Given the description of an element on the screen output the (x, y) to click on. 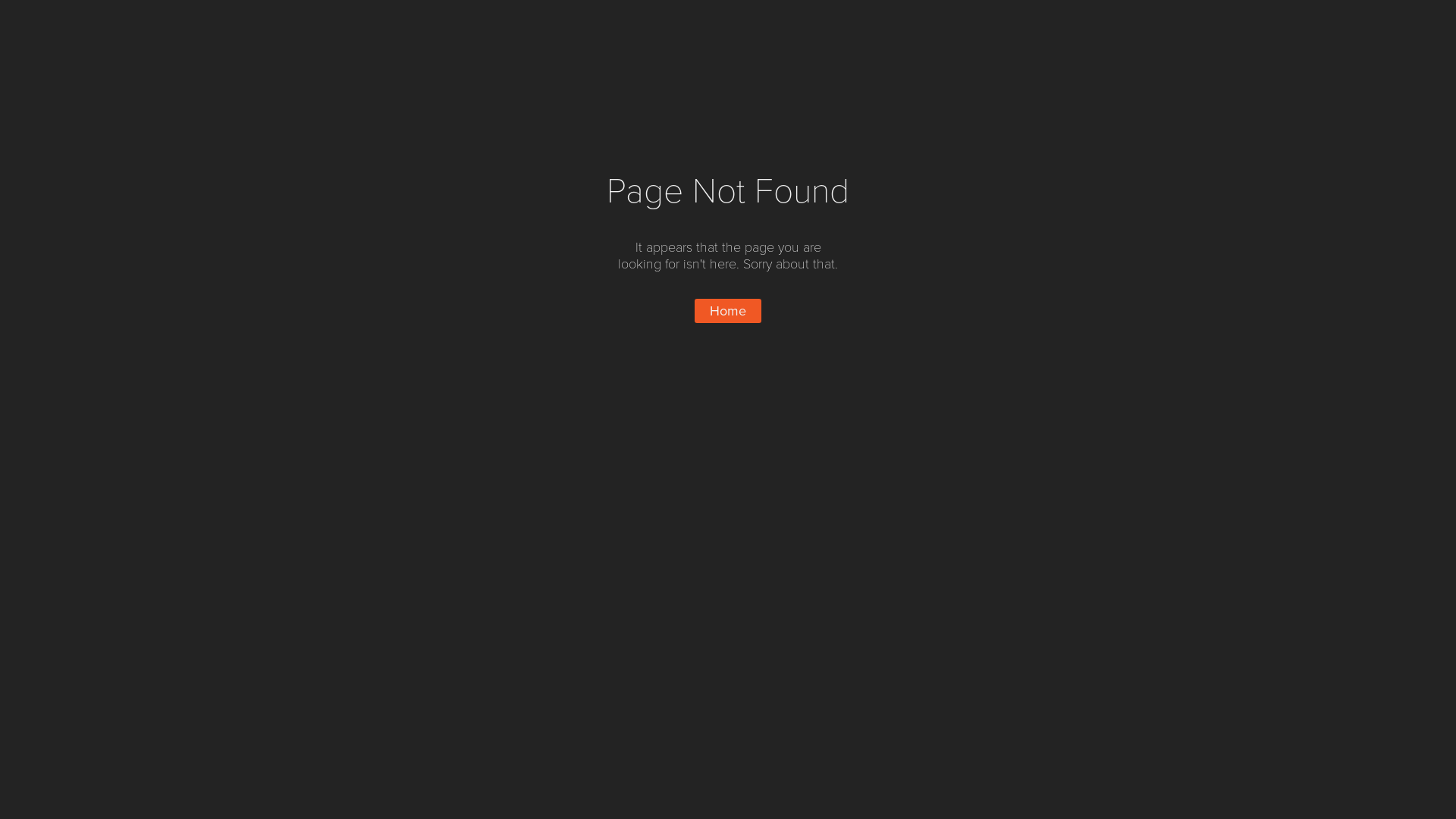
Home Element type: text (727, 310)
